Given the description of an element on the screen output the (x, y) to click on. 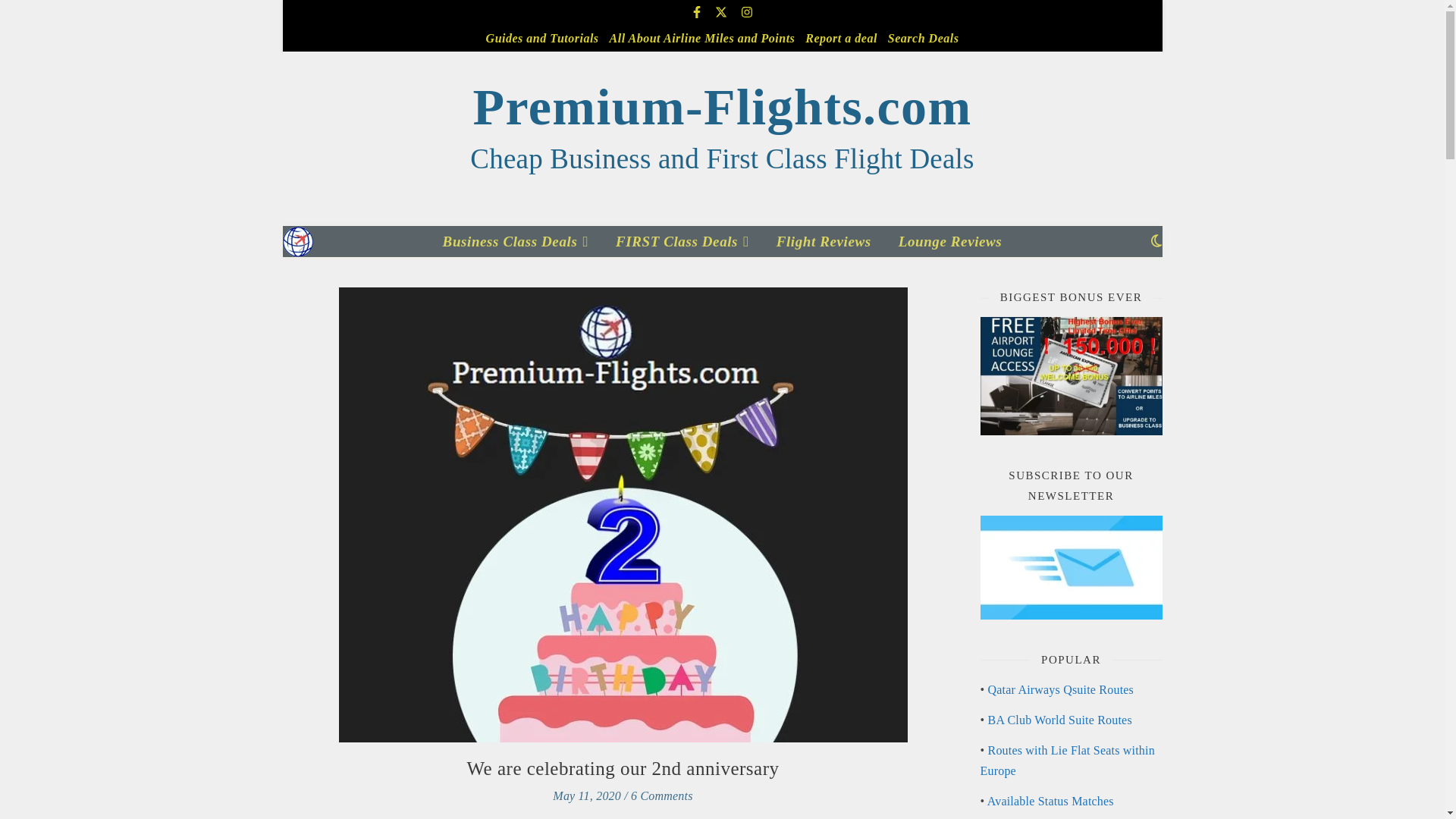
Lounge Reviews (944, 241)
Premium-Flights.com (297, 241)
6 Comments (661, 795)
Guides and Tutorials (544, 38)
Business Class Deals (520, 241)
All About Airline Miles and Points (702, 38)
Premium-Flights.com (722, 106)
Flight Reviews (823, 241)
Report a deal (841, 38)
FIRST Class Deals (682, 241)
Search Deals (921, 38)
